Given the description of an element on the screen output the (x, y) to click on. 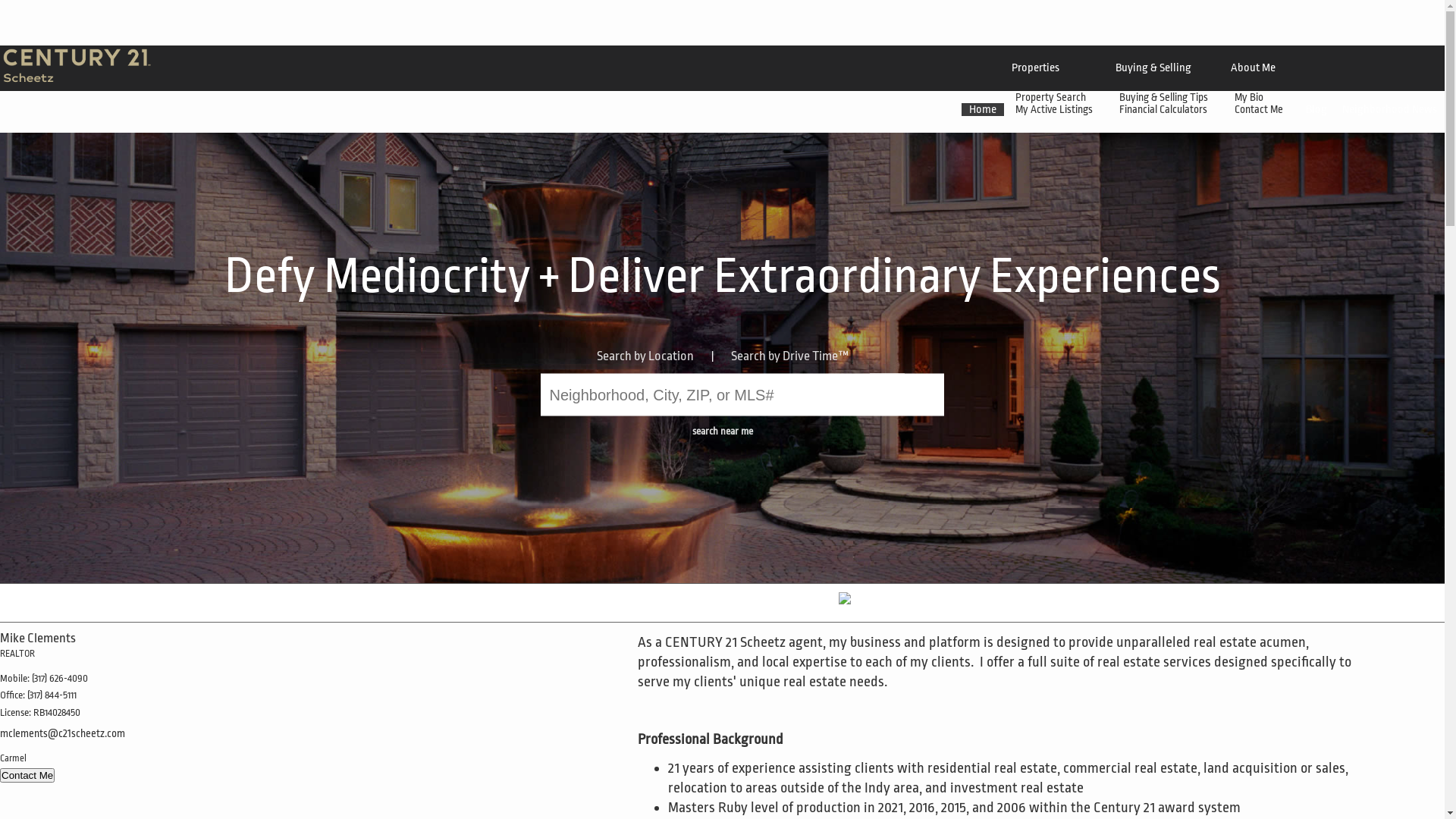
Blog Element type: text (1316, 109)
About Me Element type: text (1253, 67)
Neighborhood News Element type: text (1389, 109)
(317) 844-5111 Element type: text (51, 694)
Buying & Selling Element type: text (1152, 67)
My Active Listings Element type: text (1055, 108)
Buying & Selling Tips Element type: text (1165, 96)
mclements@c21scheetz.com Element type: text (62, 733)
Property Search Element type: text (1052, 96)
Contact Me Element type: text (27, 775)
Properties Element type: text (1035, 67)
Financial Calculators Element type: text (1164, 108)
(317) 626-4090 Element type: text (59, 677)
Home Element type: text (982, 109)
Contact Me Element type: text (1260, 108)
My Bio Element type: text (1250, 96)
